Given the description of an element on the screen output the (x, y) to click on. 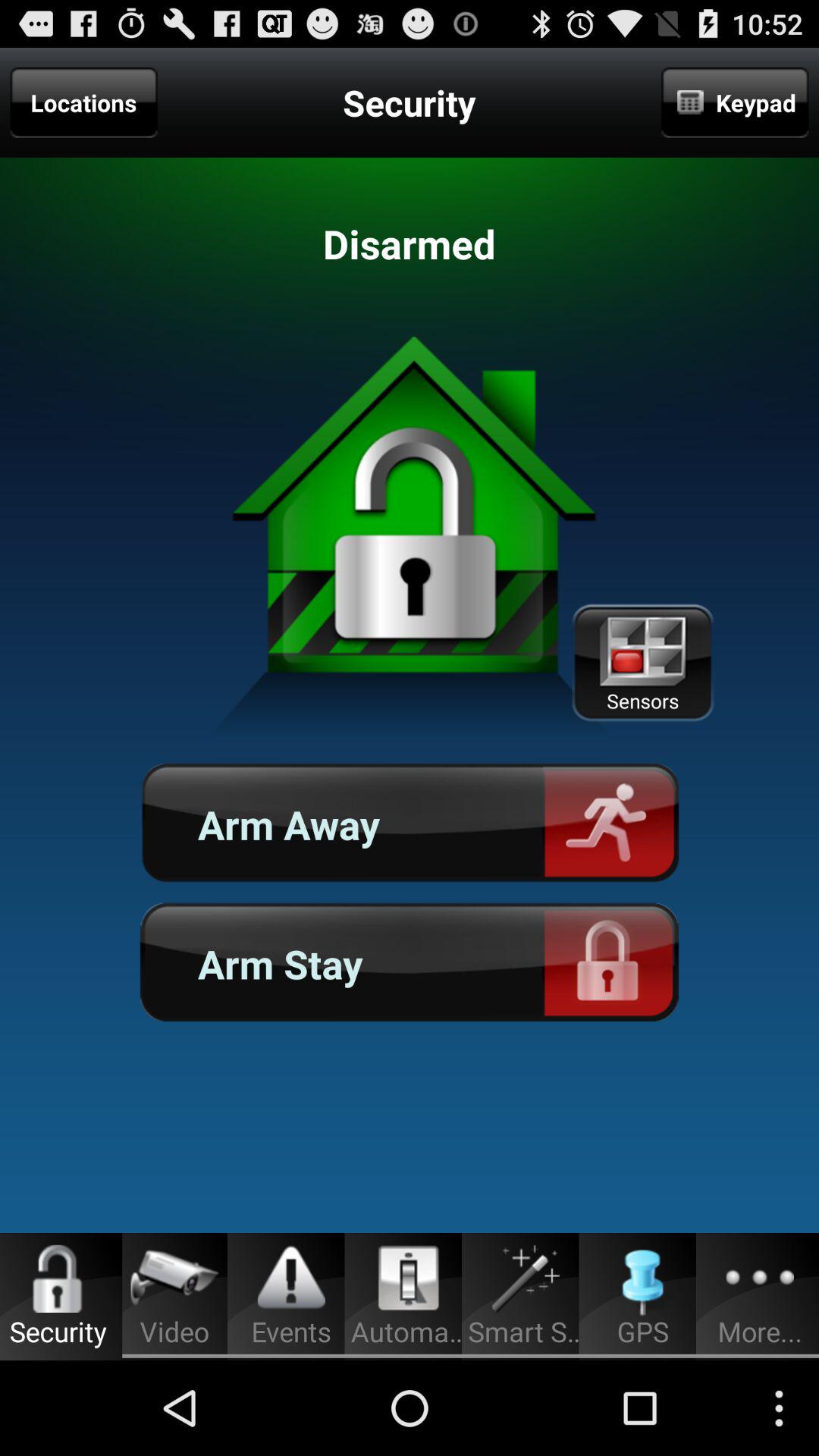
turn off the arm stay icon (409, 963)
